Given the description of an element on the screen output the (x, y) to click on. 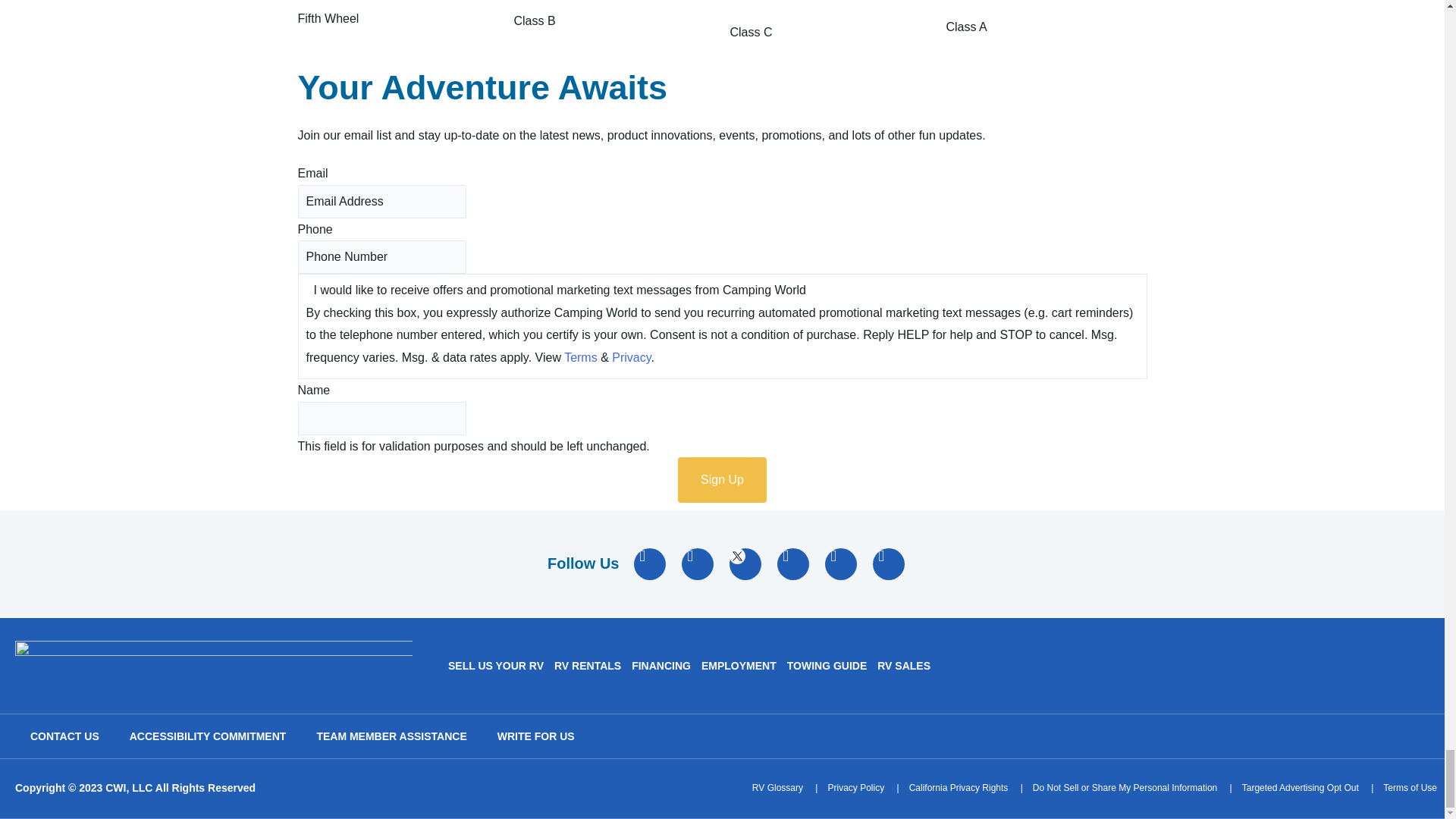
RV Glossary (777, 787)
CA Privacy Rights (958, 787)
Privacy Policy (855, 787)
Do Not Sell or Share My Personal Information (1124, 787)
Sign Up (722, 479)
Targeted Advertising Opt Out (1299, 787)
Terms of Use (1410, 787)
